Given the description of an element on the screen output the (x, y) to click on. 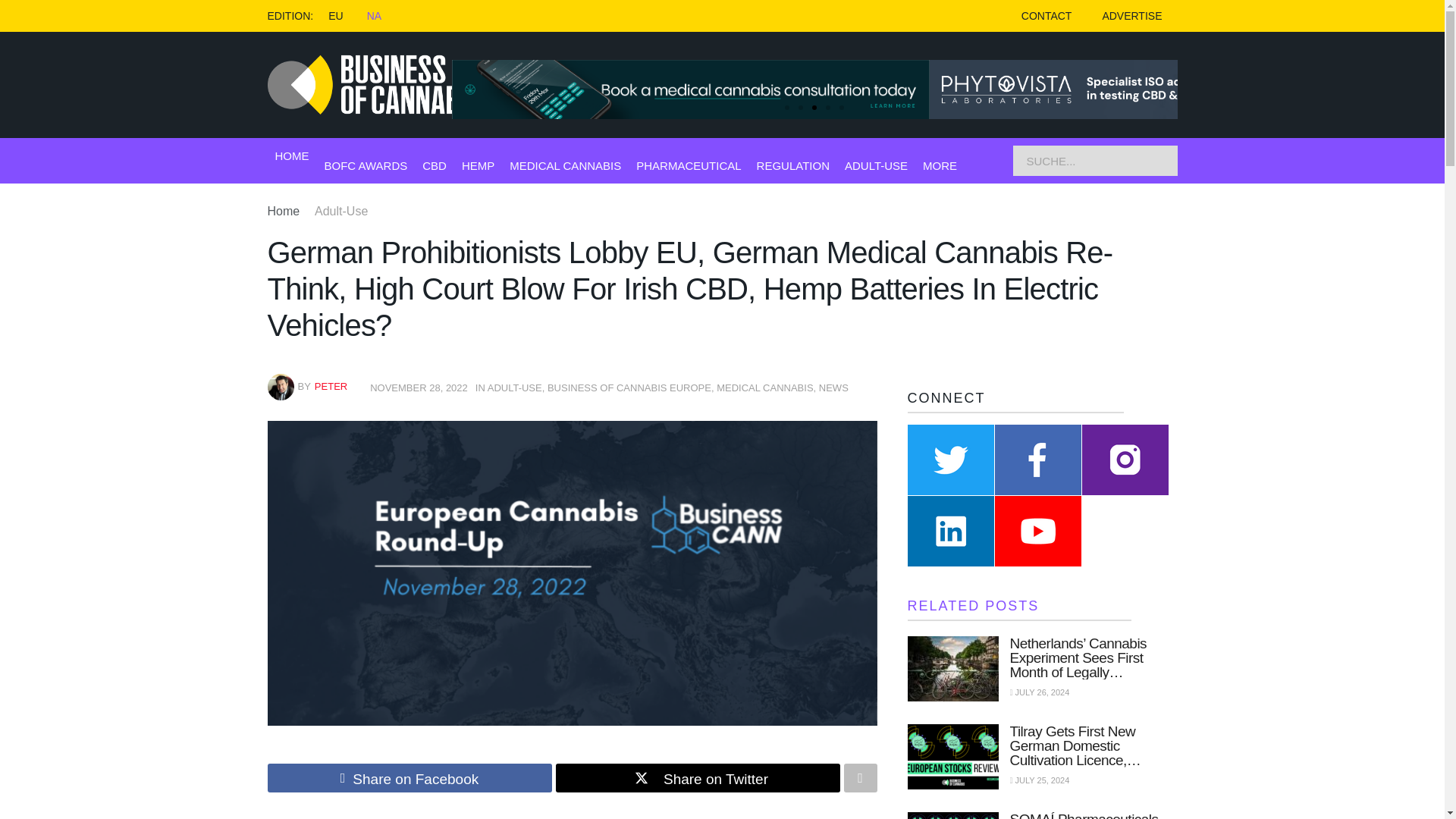
PHARMACEUTICAL (688, 165)
HOME (291, 156)
ADULT-USE (875, 165)
MEDICAL CANNABIS (565, 165)
ADVERTISE (1131, 15)
CONTACT (1046, 15)
MORE (939, 165)
HEMP (478, 165)
BOFC AWARDS (365, 165)
CBD (434, 165)
REGULATION (793, 165)
